Given the description of an element on the screen output the (x, y) to click on. 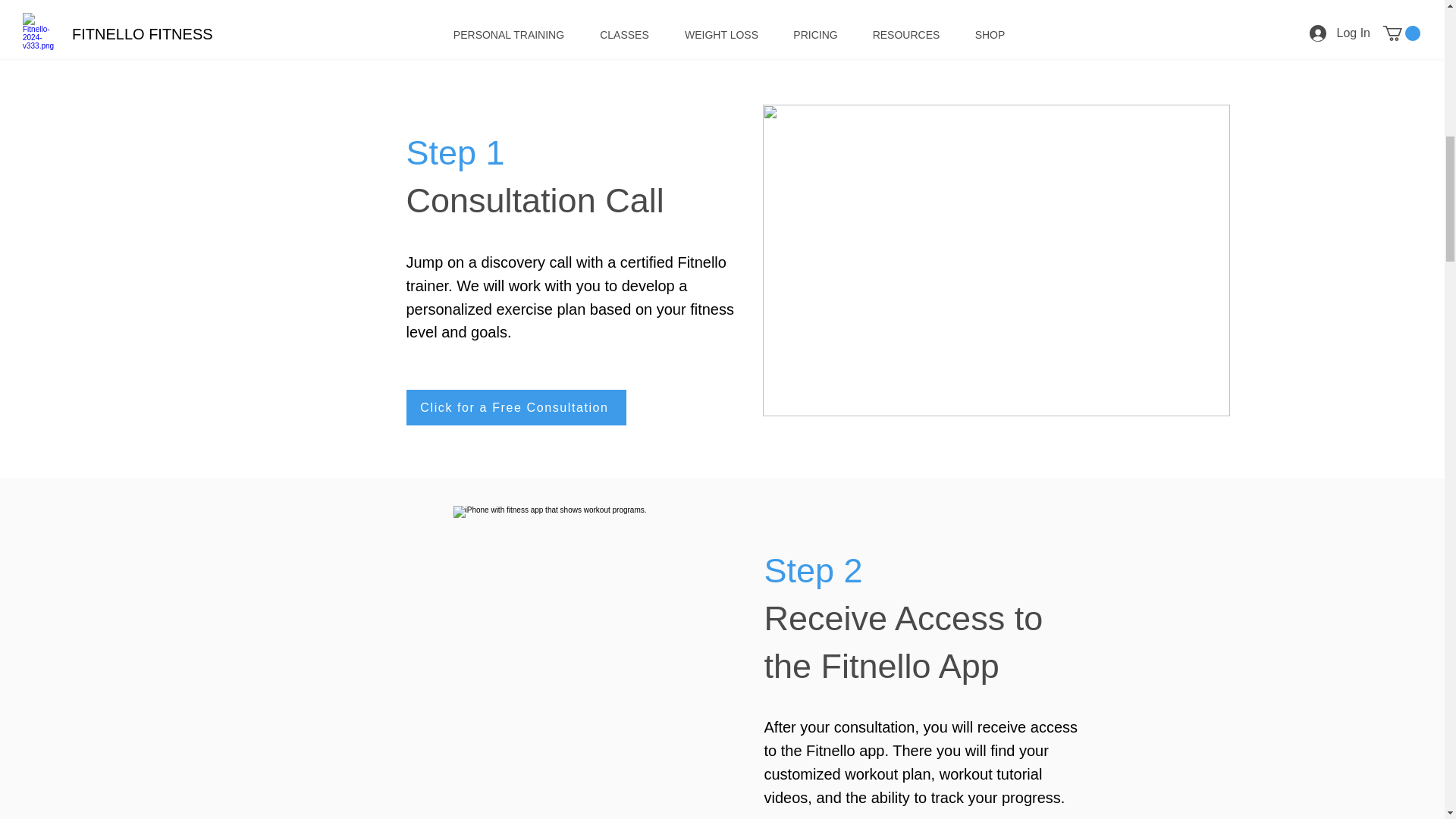
Click for a Free Consultation (516, 407)
